Given the description of an element on the screen output the (x, y) to click on. 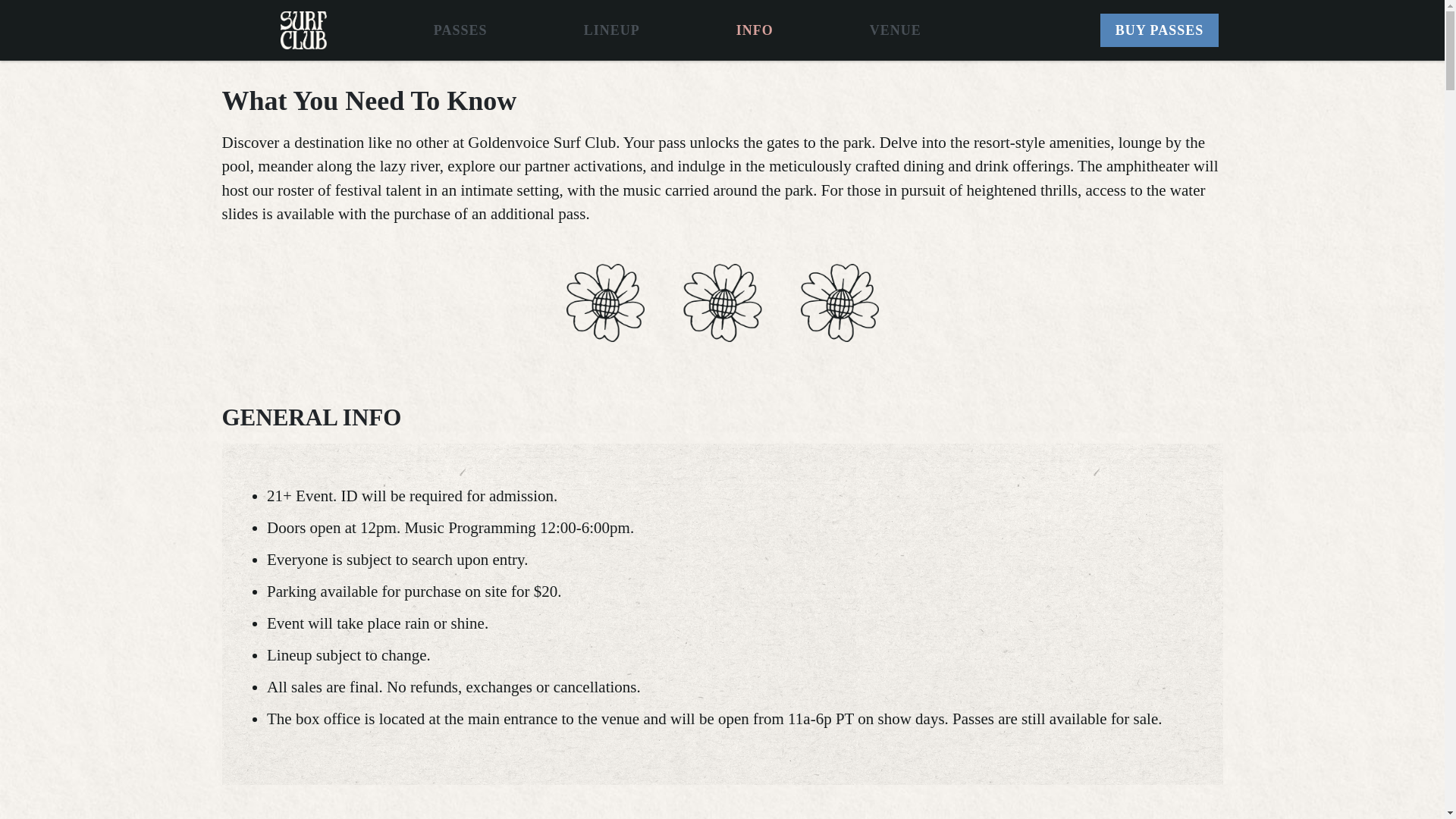
VENUE (895, 30)
LINEUP (611, 30)
INFO (754, 30)
PASSES (460, 30)
BUY PASSES (1160, 29)
